Given the description of an element on the screen output the (x, y) to click on. 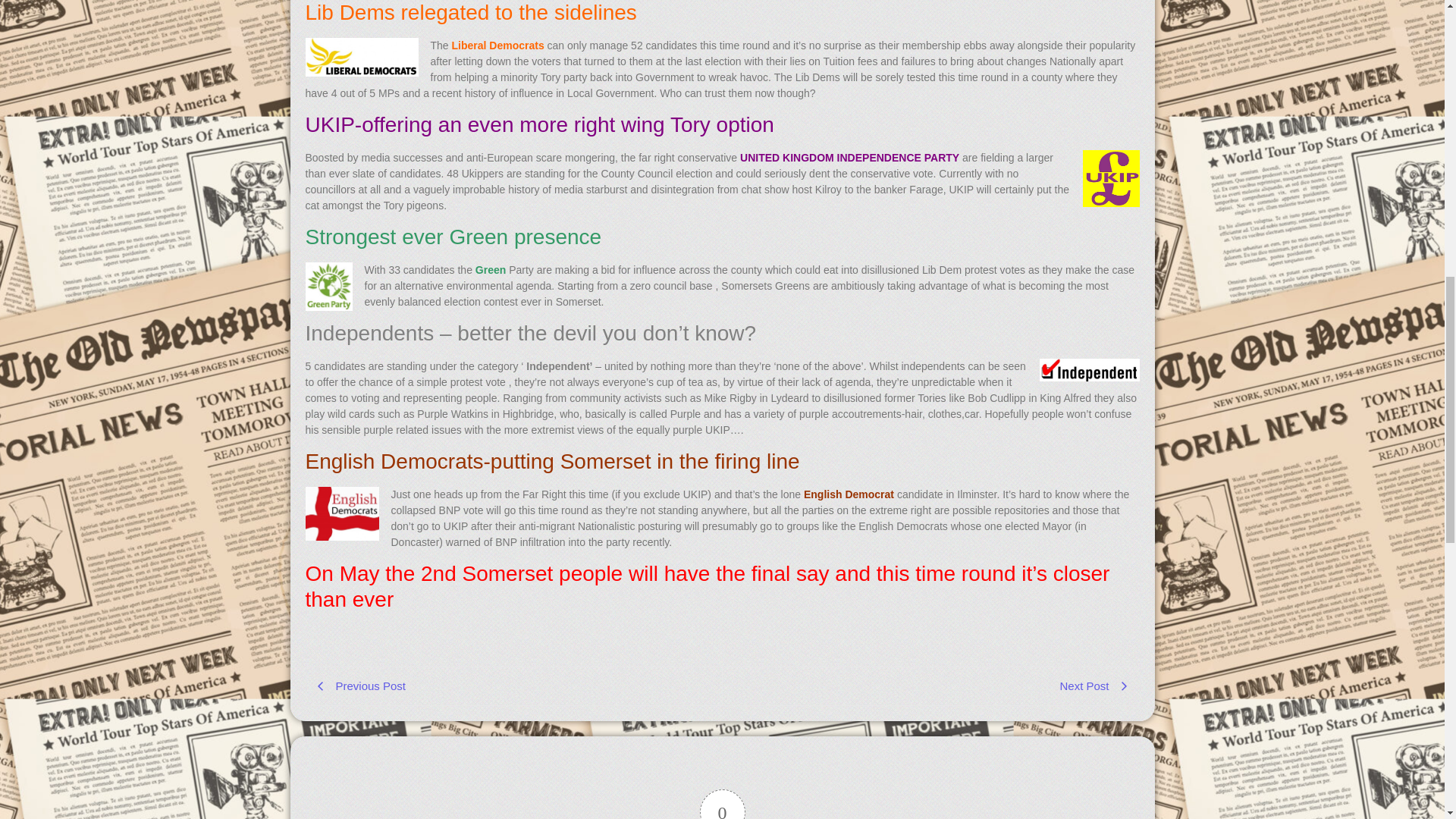
Next Post (931, 686)
Previous Post (513, 686)
